Given the description of an element on the screen output the (x, y) to click on. 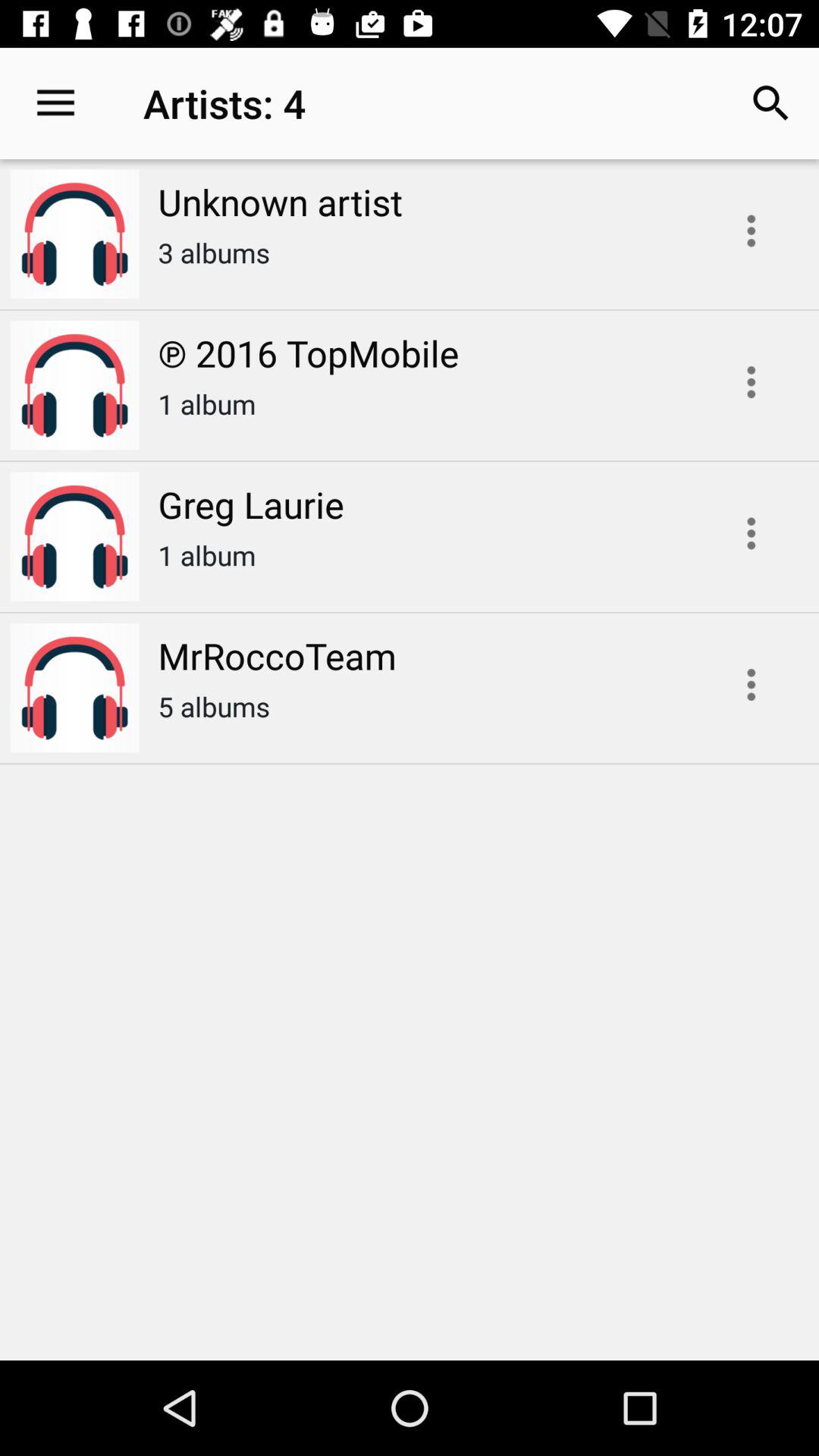
options (750, 684)
